Given the description of an element on the screen output the (x, y) to click on. 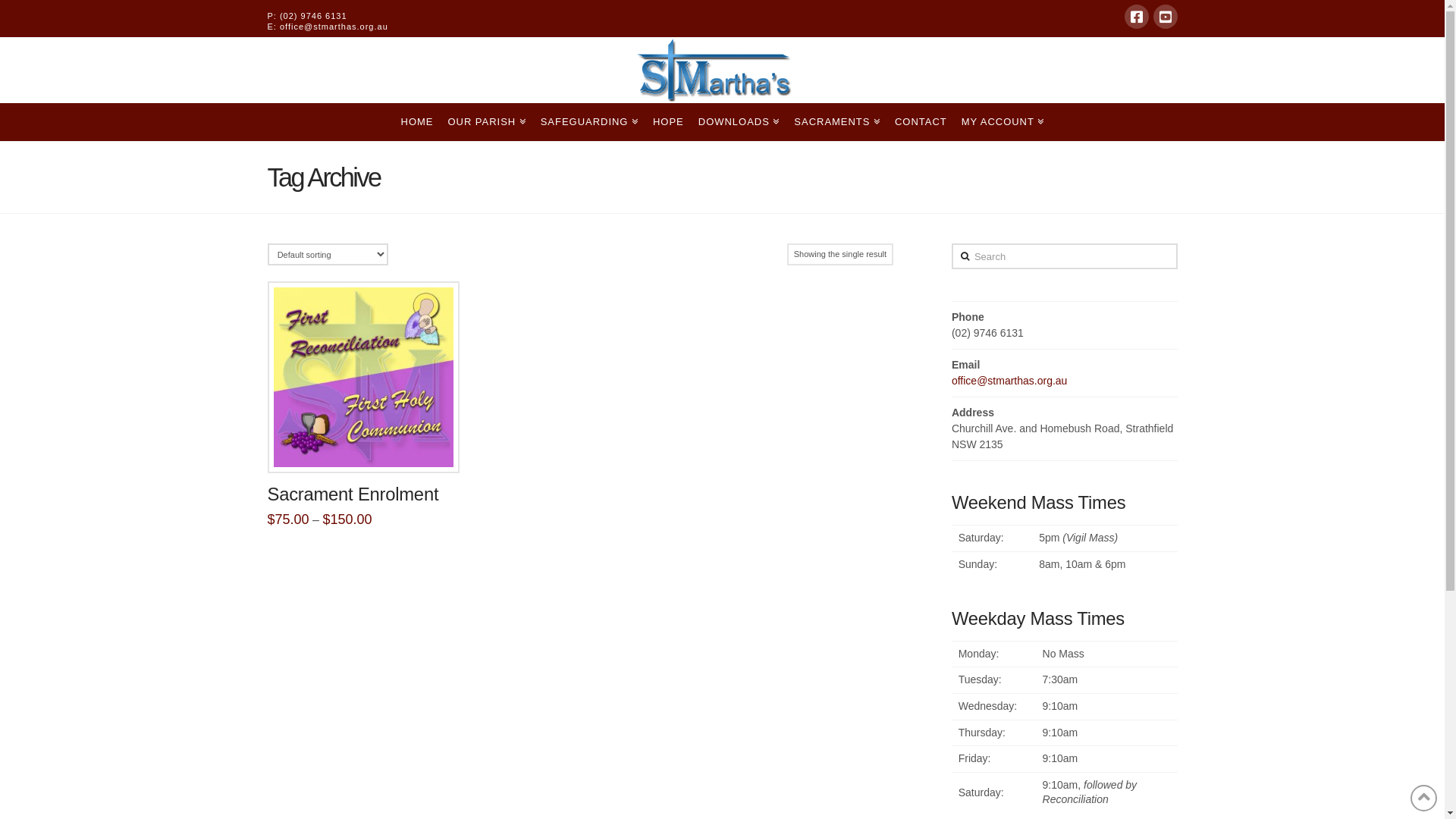
HOPE Element type: text (667, 122)
(02) 9746 6131 Element type: text (313, 15)
Back to Top Element type: hover (1423, 797)
DOWNLOADS Element type: text (738, 122)
SACRAMENTS Element type: text (836, 122)
HOME Element type: text (416, 122)
CONTACT Element type: text (920, 122)
office@stmarthas.org.au Element type: text (1008, 380)
Sacrament Enrolment Element type: text (352, 493)
YouTube Element type: hover (1164, 16)
MY ACCOUNT Element type: text (1002, 122)
OUR PARISH Element type: text (485, 122)
office@stmarthas.org.au Element type: text (333, 26)
Facebook Element type: hover (1135, 16)
SAFEGUARDING Element type: text (589, 122)
